Given the description of an element on the screen output the (x, y) to click on. 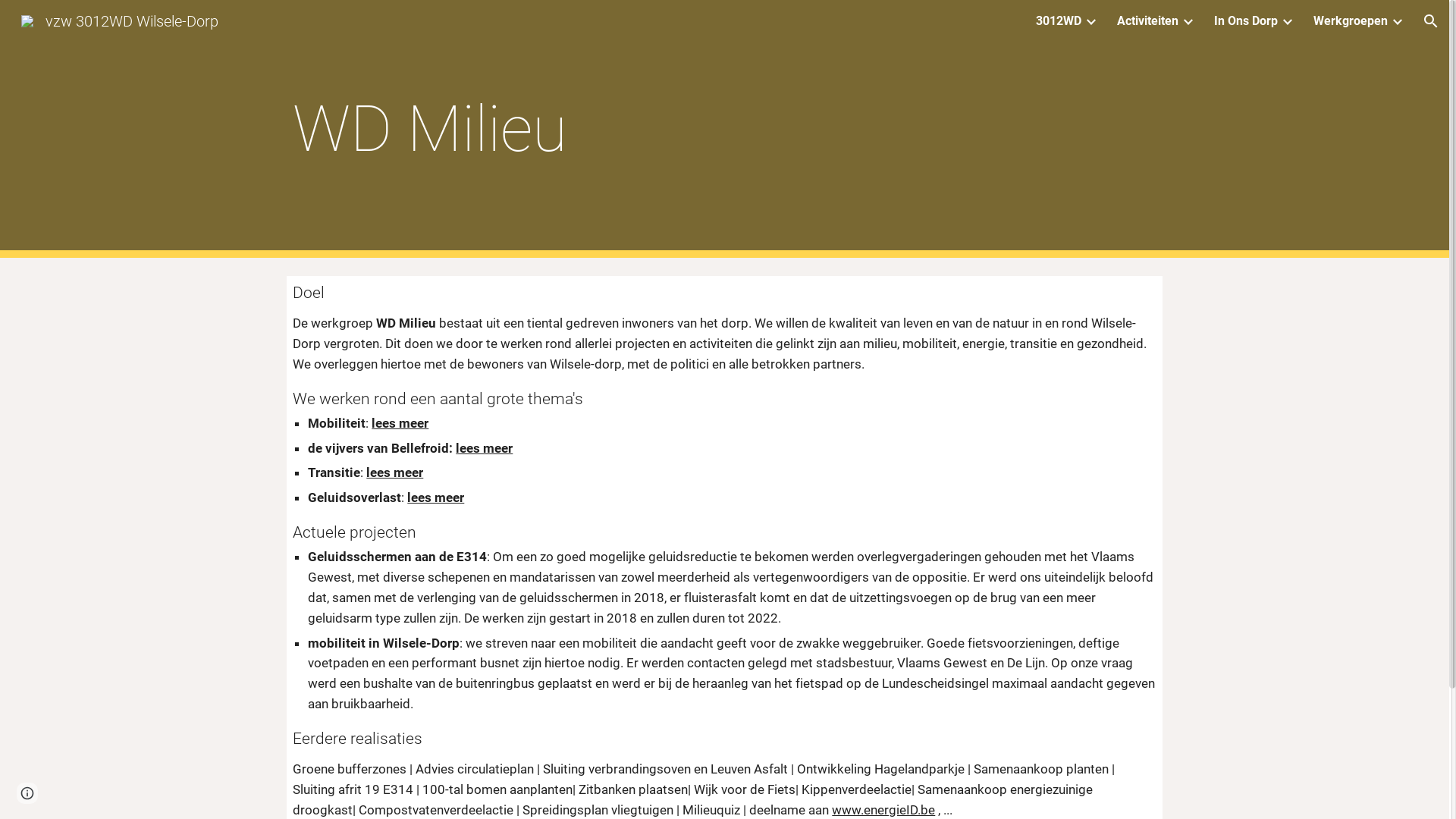
lees meer Element type: text (399, 422)
Expand/Collapse Element type: hover (1396, 20)
In Ons Dorp Element type: text (1245, 20)
Expand/Collapse Element type: hover (1286, 20)
Expand/Collapse Element type: hover (1090, 20)
lees meer Element type: text (435, 497)
Expand/Collapse Element type: hover (1187, 20)
vzw 3012WD Wilsele-Dorp Element type: text (119, 19)
lees meer Element type: text (394, 472)
www.energieID.be Element type: text (883, 809)
3012WD Element type: text (1058, 20)
lees meer Element type: text (483, 447)
Werkgroepen Element type: text (1350, 20)
Activiteiten Element type: text (1147, 20)
